Given the description of an element on the screen output the (x, y) to click on. 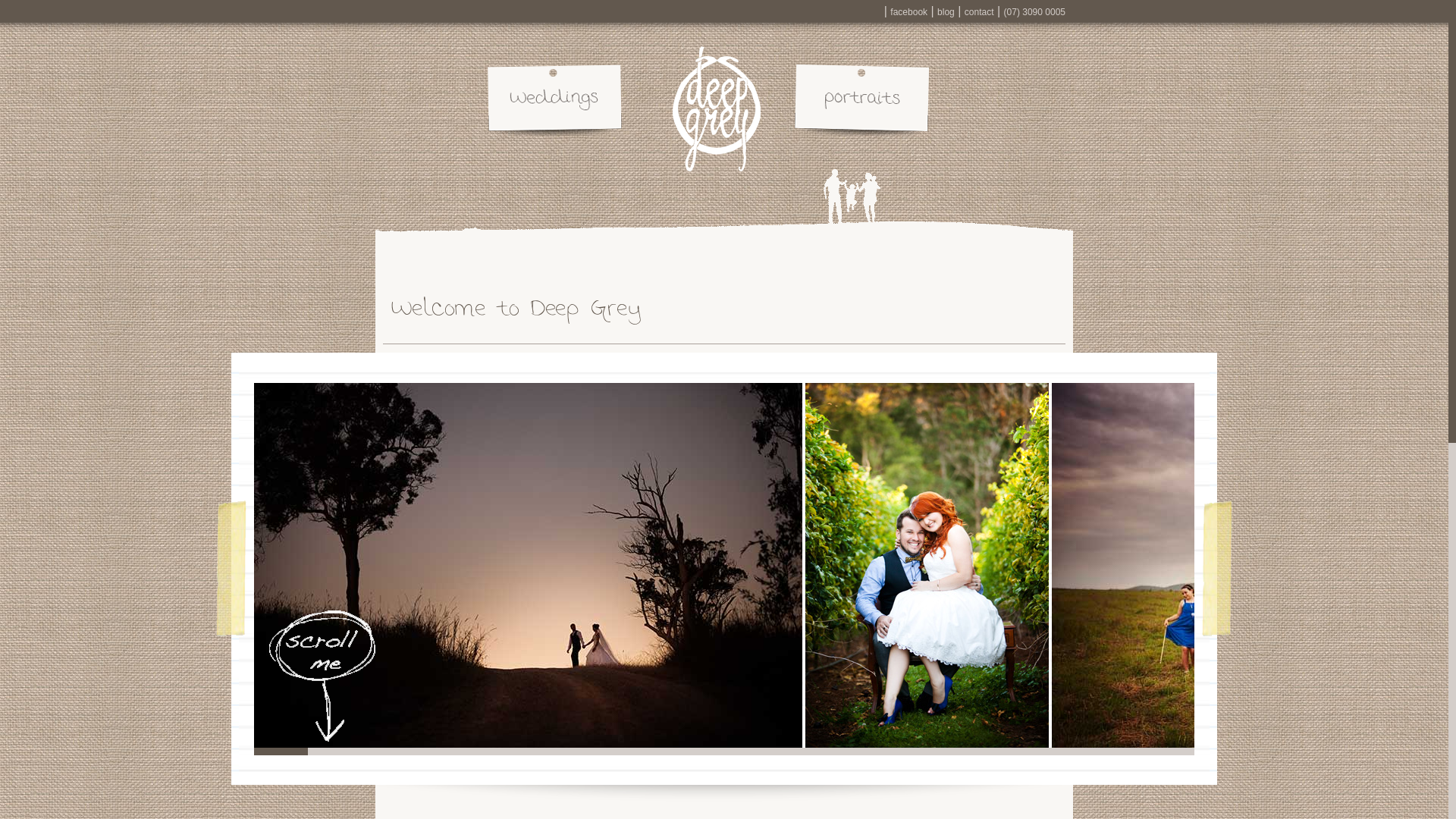
contact Element type: text (979, 11)
blog Element type: text (945, 11)
facebook Element type: text (908, 11)
